Given the description of an element on the screen output the (x, y) to click on. 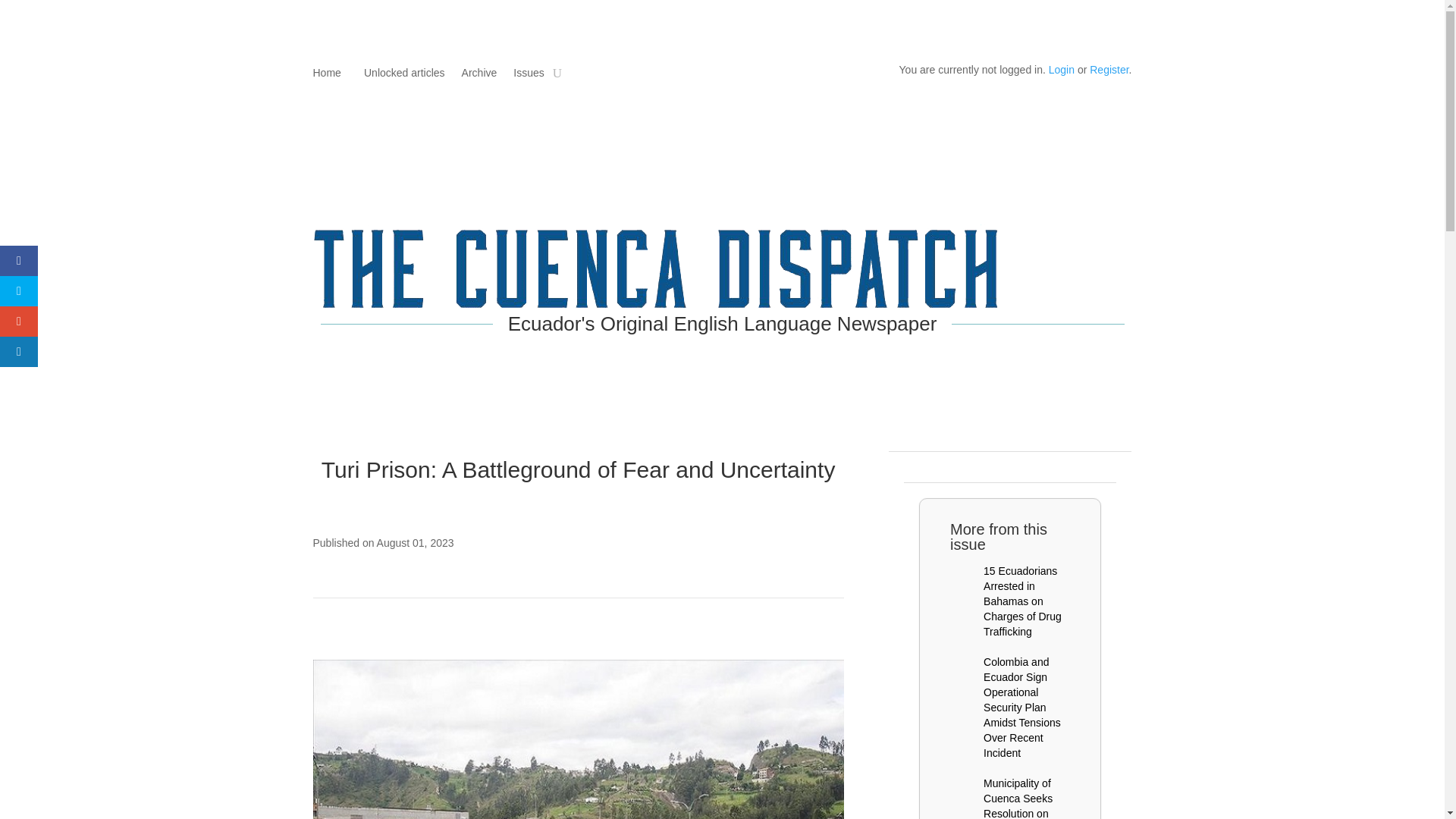
Home (326, 76)
Unlocked articles (401, 76)
Register (1108, 69)
logo-cuenca-dispatch-no-text (655, 268)
Archive (479, 76)
Login (1061, 69)
Issues (528, 76)
